Given the description of an element on the screen output the (x, y) to click on. 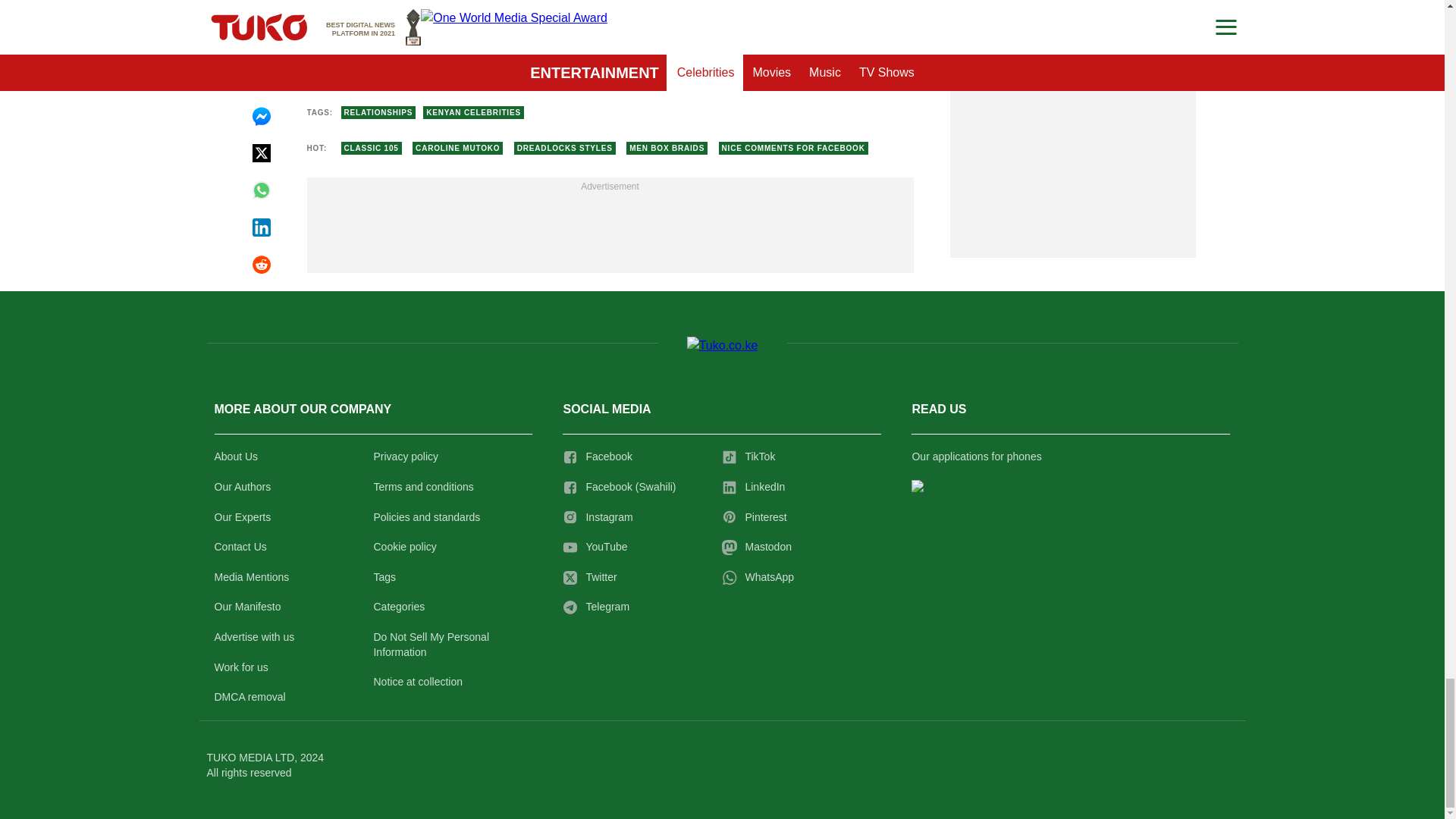
Author page (533, 63)
